Given the description of an element on the screen output the (x, y) to click on. 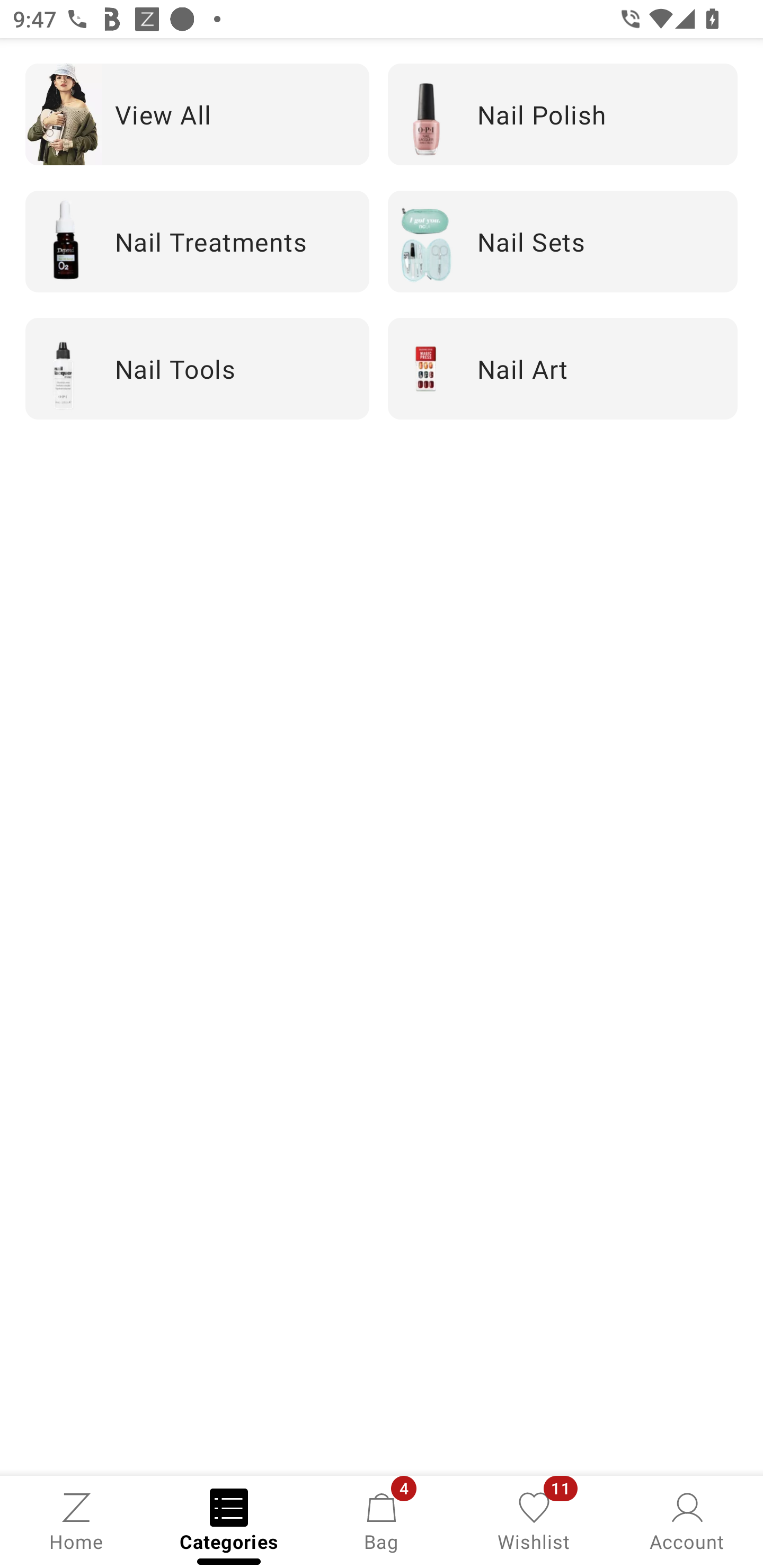
View All (197, 114)
Nail Polish (562, 114)
Nail Treatments (197, 241)
Nail Sets (562, 241)
Nail Tools (197, 369)
Nail Art (562, 369)
Home (76, 1519)
Bag, 4 new notifications Bag (381, 1519)
Wishlist, 11 new notifications Wishlist (533, 1519)
Account (686, 1519)
